Given the description of an element on the screen output the (x, y) to click on. 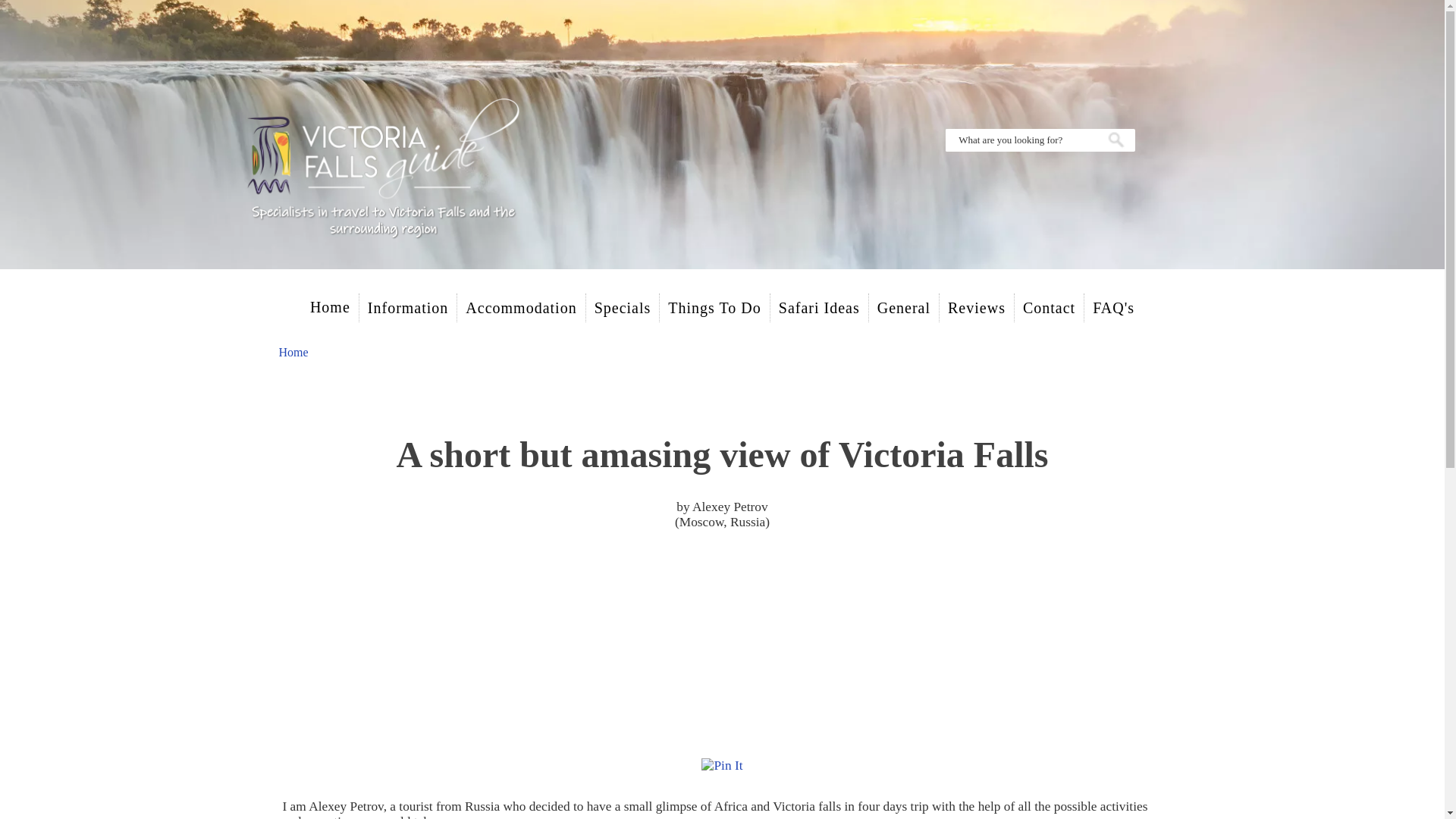
What are you looking for? (1020, 139)
Go (1115, 139)
What are you looking for? (1020, 139)
Pin It (721, 765)
victoriafalls-guide.net (381, 173)
Information (407, 307)
Home (329, 306)
Accommodation (521, 307)
Go (1115, 139)
